Given the description of an element on the screen output the (x, y) to click on. 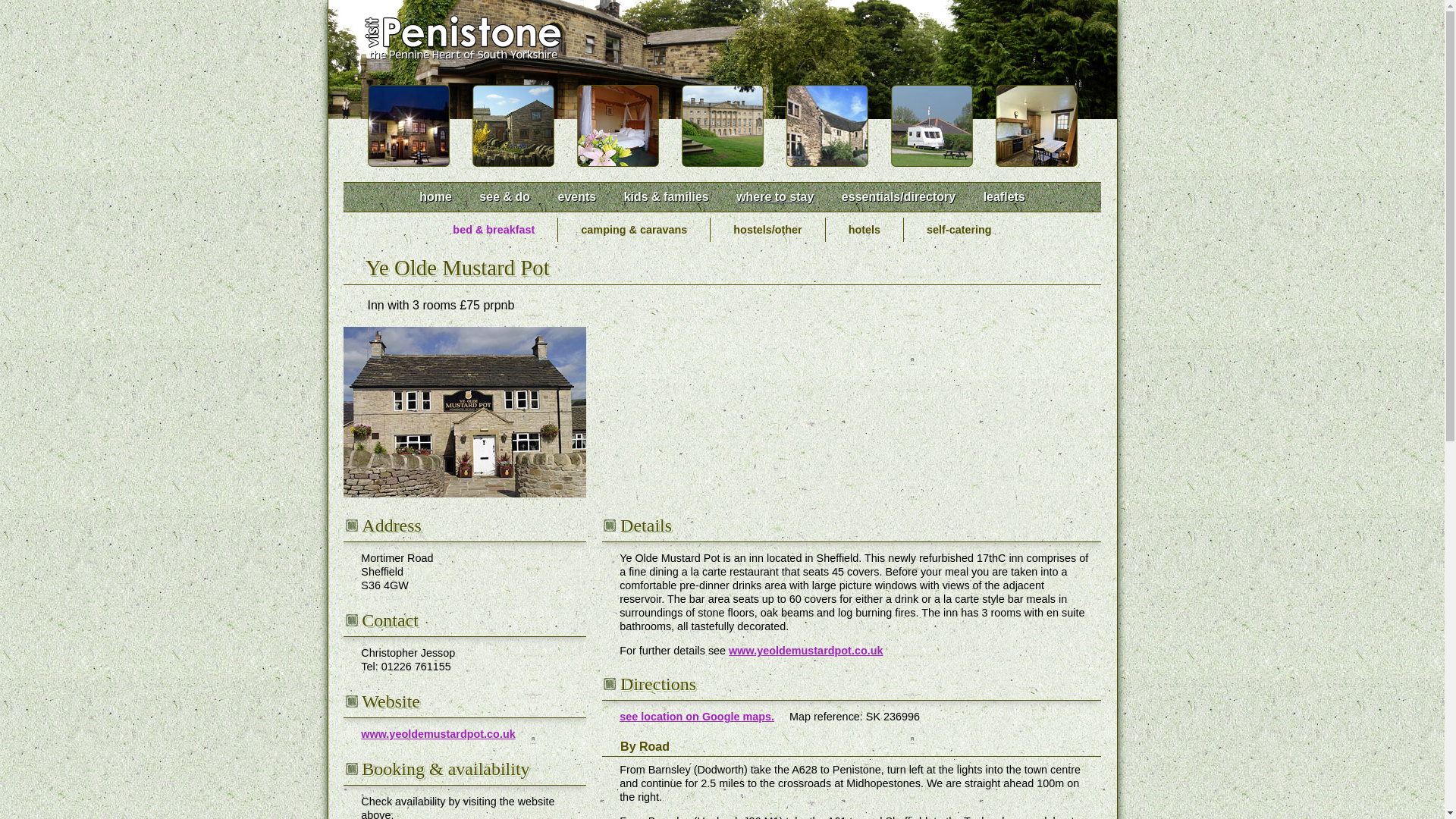
see location on Google maps (697, 716)
www.yeoldemustardpot.co.uk (805, 650)
view the website (438, 734)
events (576, 196)
self-catering (959, 229)
home (435, 196)
www.yeoldemustardpot.co.uk (438, 734)
hotels (864, 229)
leaflets (1003, 196)
where to stay (774, 196)
